Given the description of an element on the screen output the (x, y) to click on. 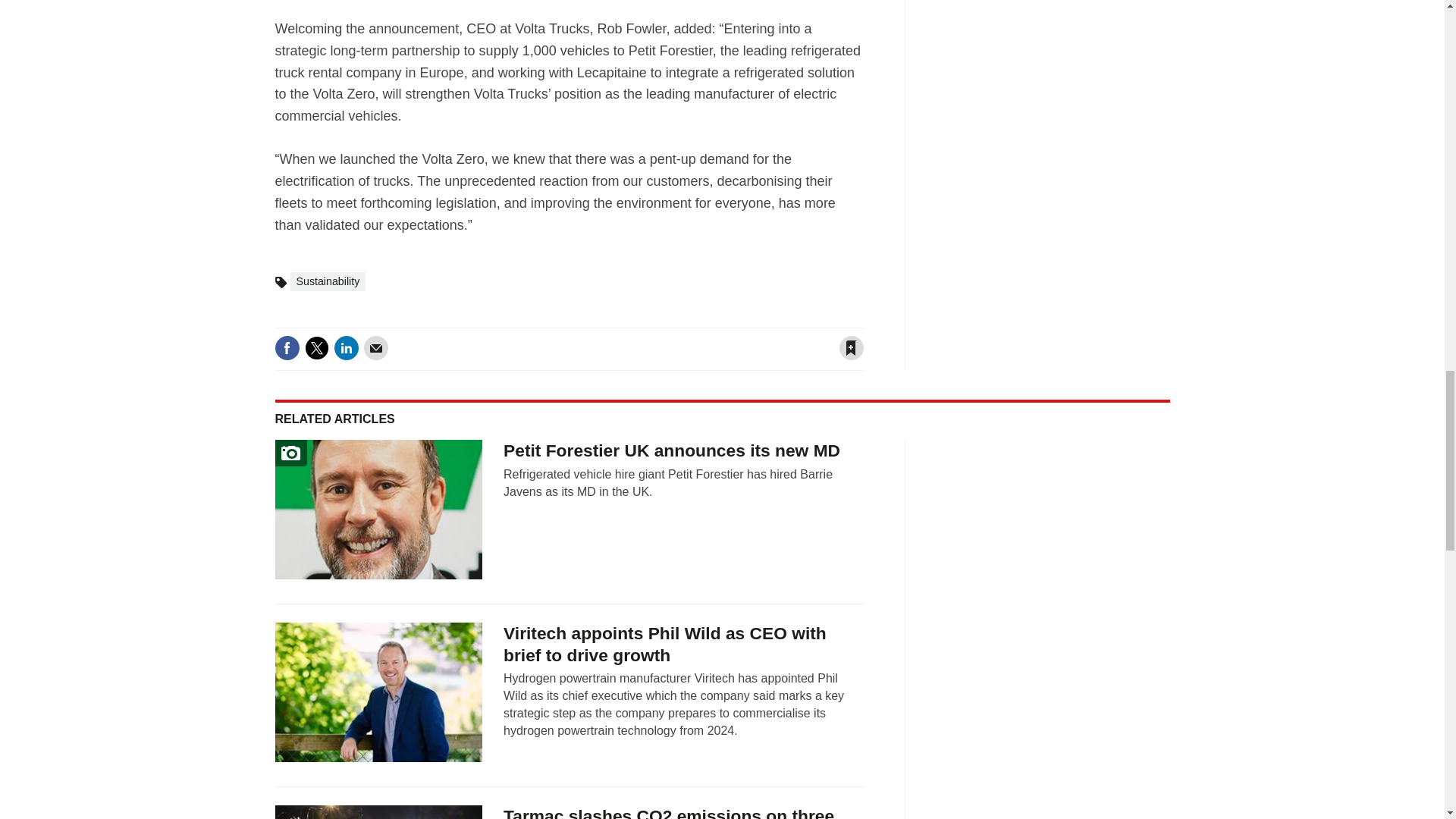
Email this article (376, 347)
3rd party ad content (1056, 79)
Share this on Twitter (316, 347)
Share this on Facebook (286, 347)
Share this on Linked in (345, 347)
